Given the description of an element on the screen output the (x, y) to click on. 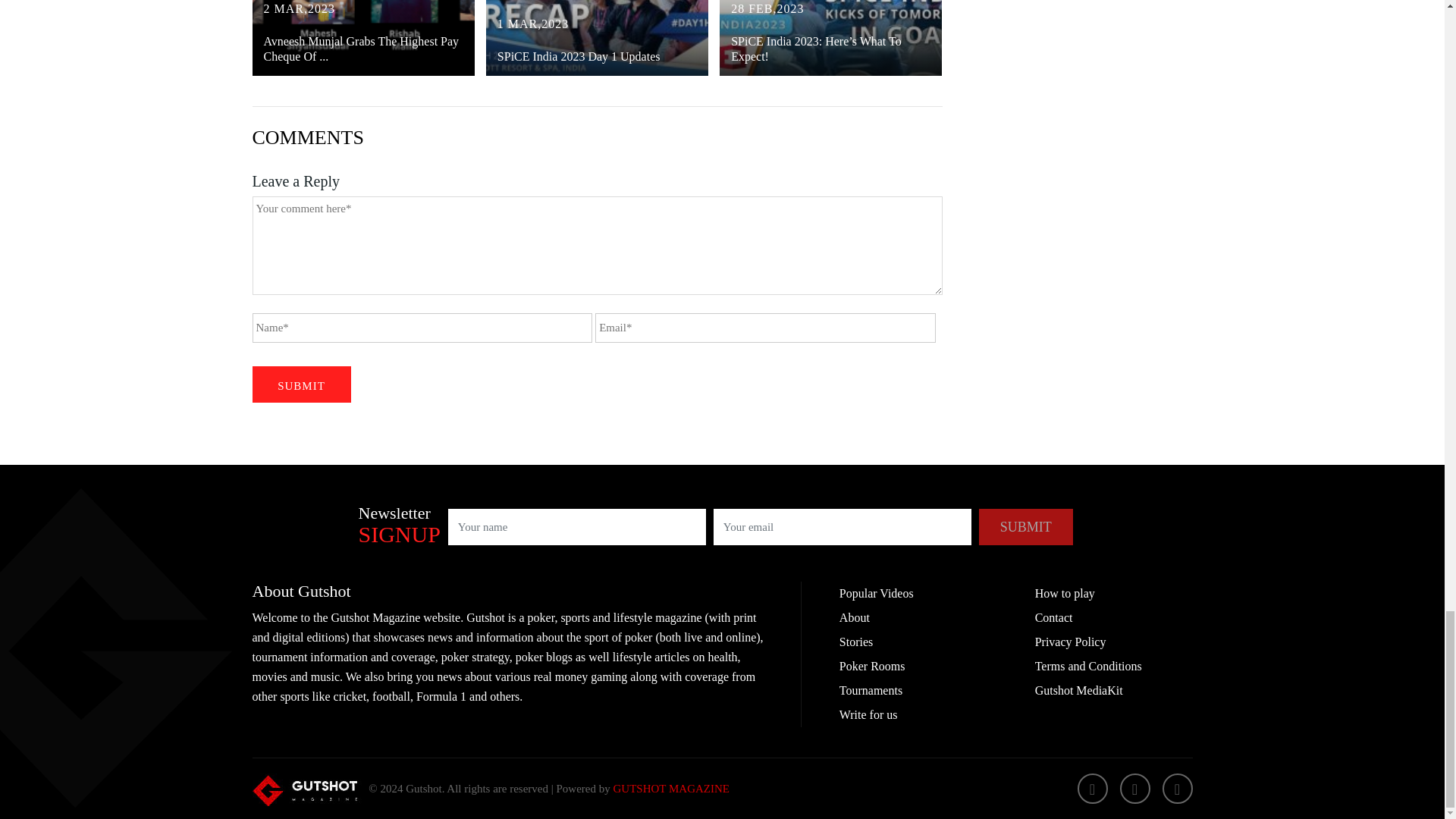
Submit (300, 384)
Submit (1025, 526)
